Given the description of an element on the screen output the (x, y) to click on. 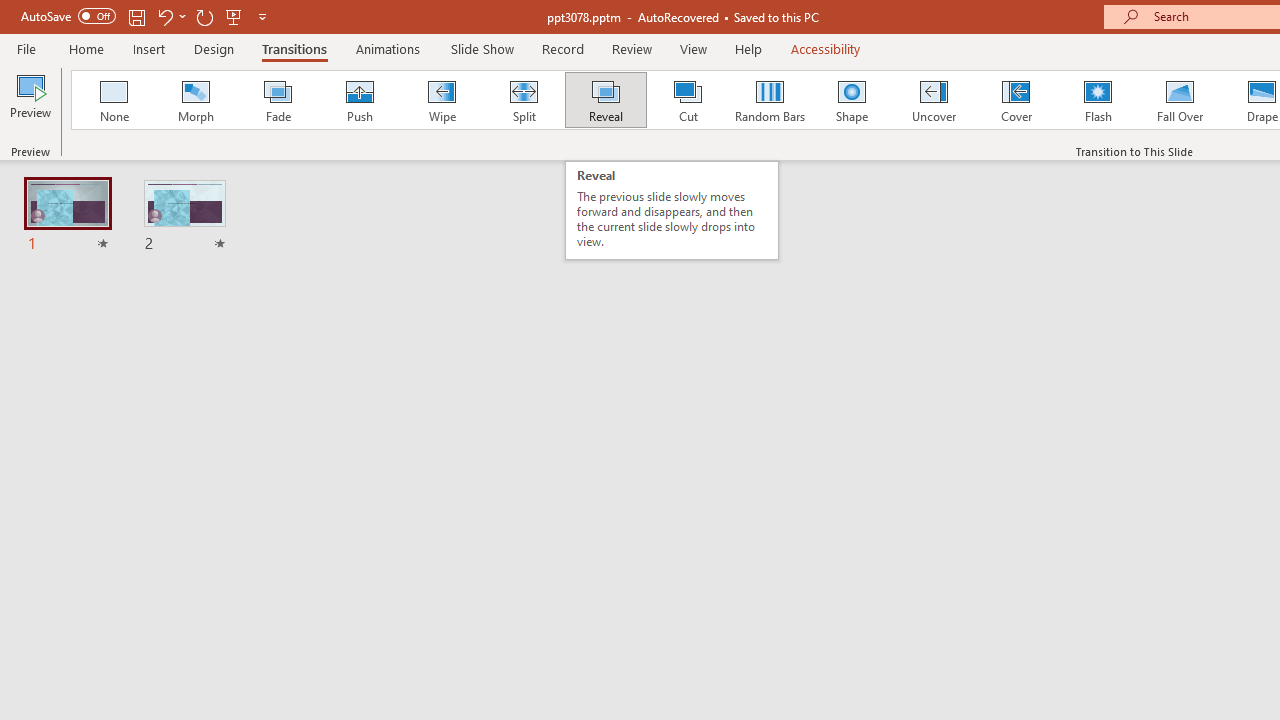
Push (359, 100)
None (113, 100)
Morph (195, 100)
